Given the description of an element on the screen output the (x, y) to click on. 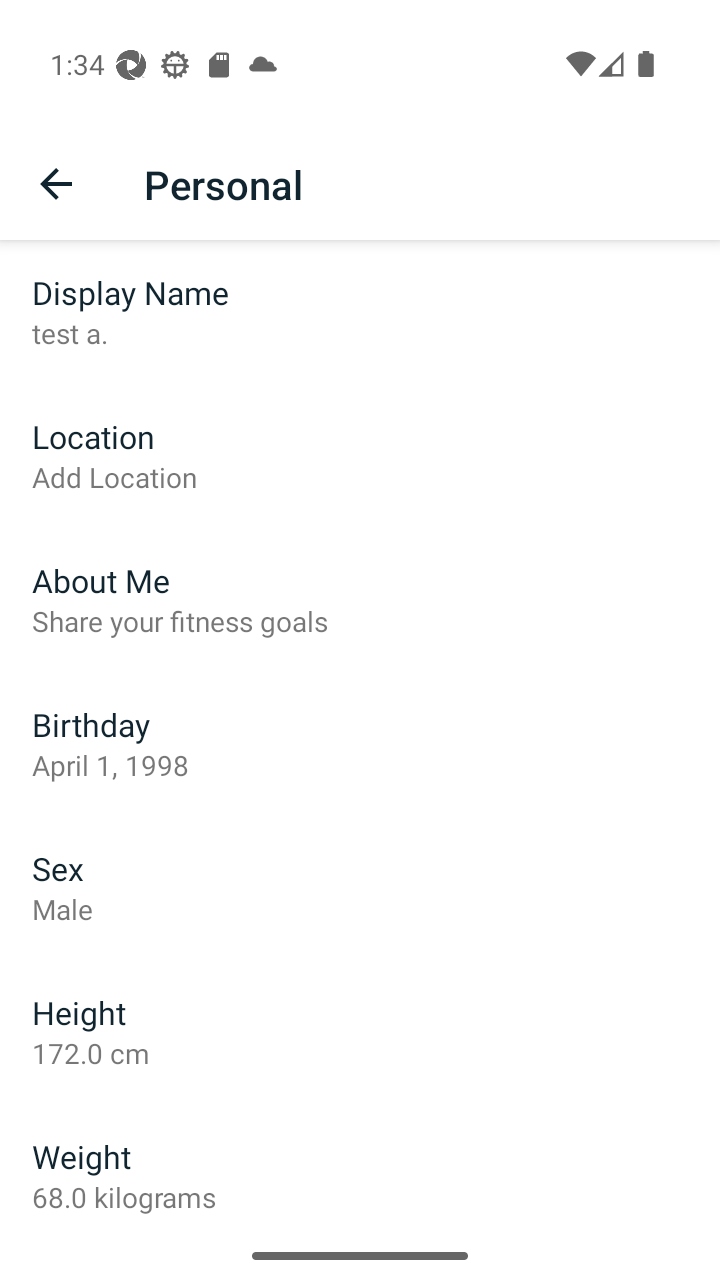
Display Name test a. (360, 312)
Location Add Location (360, 455)
About Me Share your fitness goals (360, 599)
Birthday April 1, 1998 (360, 744)
Sex Male (360, 888)
Height 172.0 cm (360, 1031)
Weight 68.0 kilograms (360, 1167)
